Given the description of an element on the screen output the (x, y) to click on. 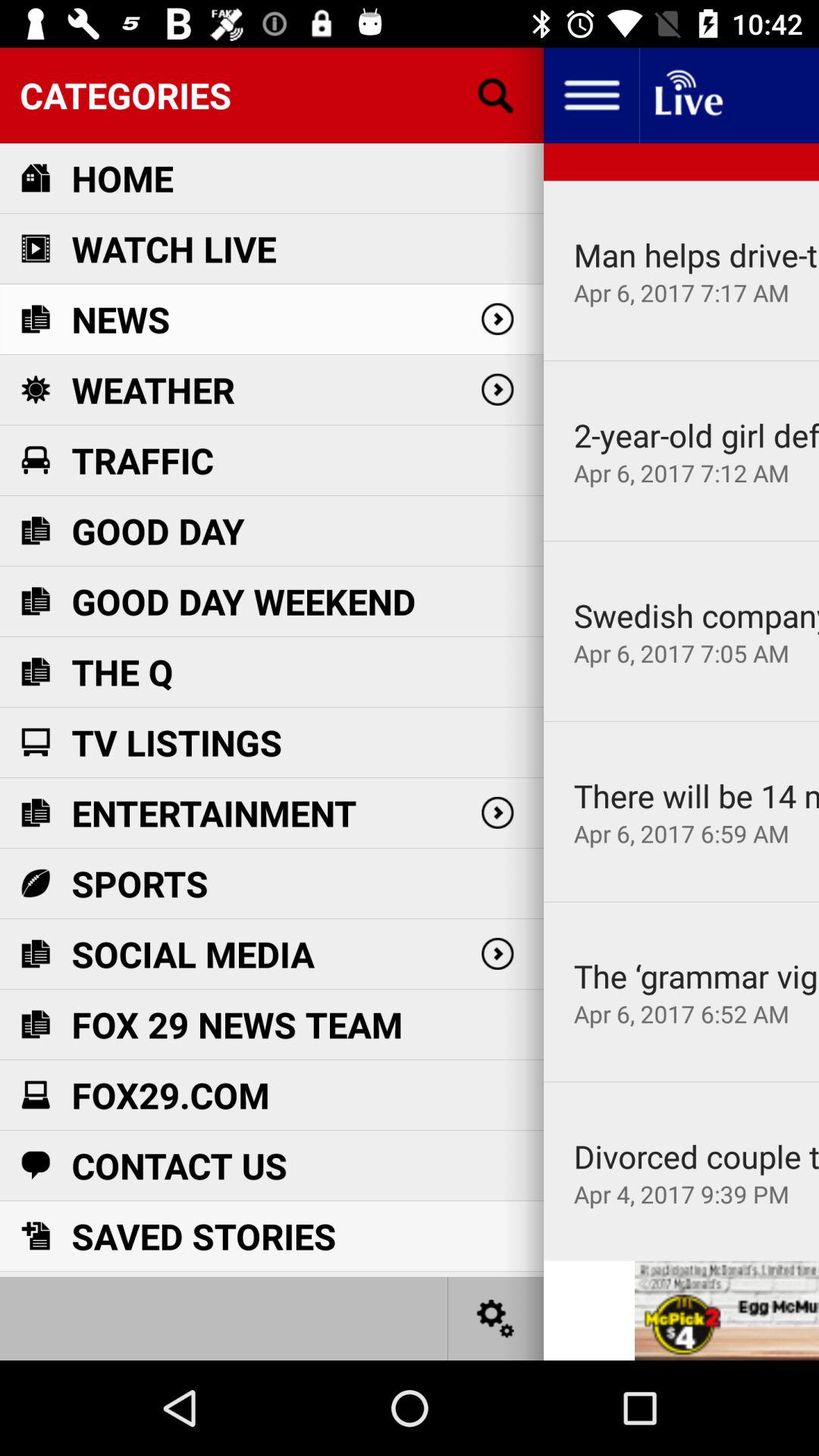
live coverage button (687, 95)
